Given the description of an element on the screen output the (x, y) to click on. 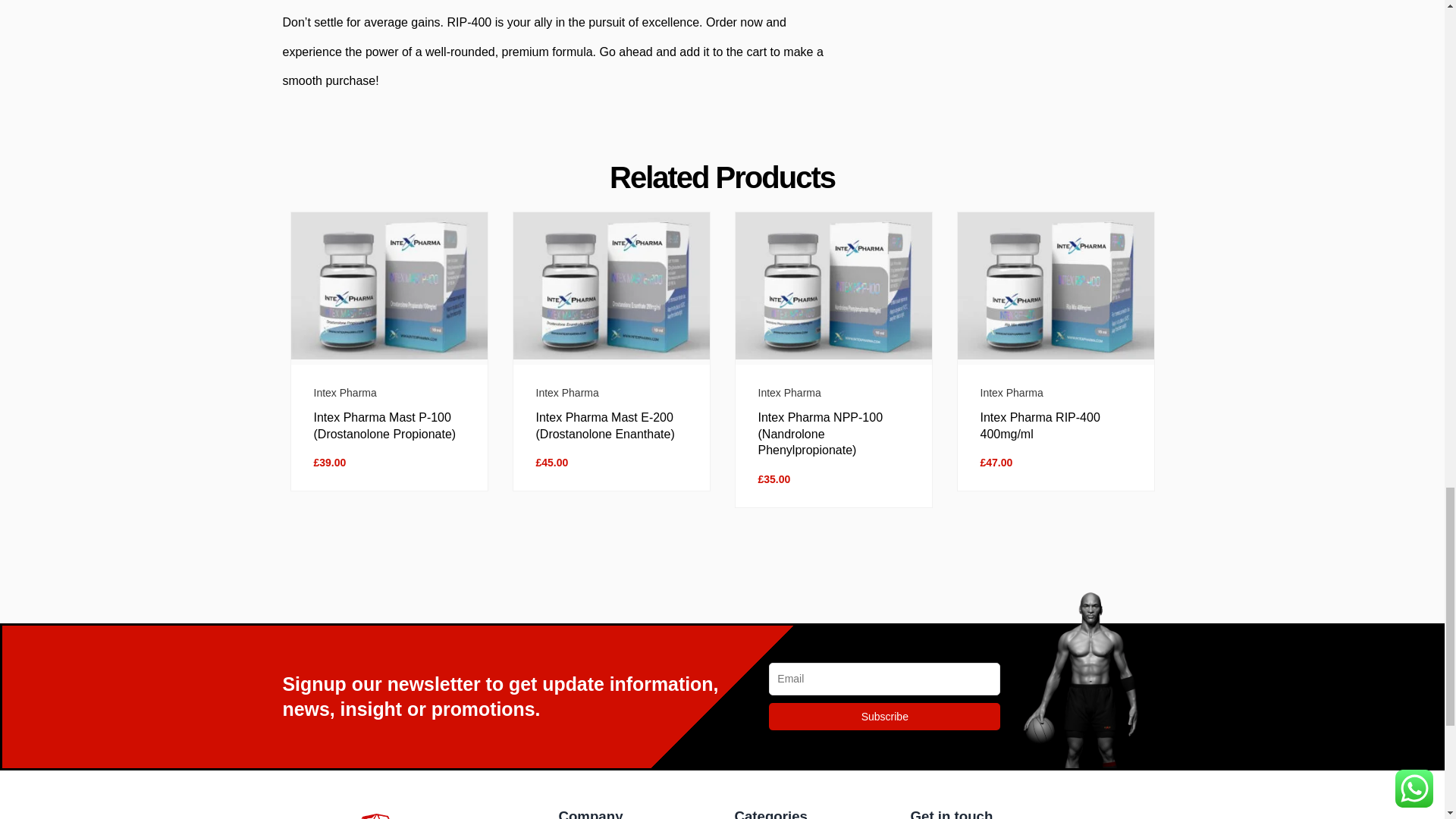
Subscribe (884, 716)
